Given the description of an element on the screen output the (x, y) to click on. 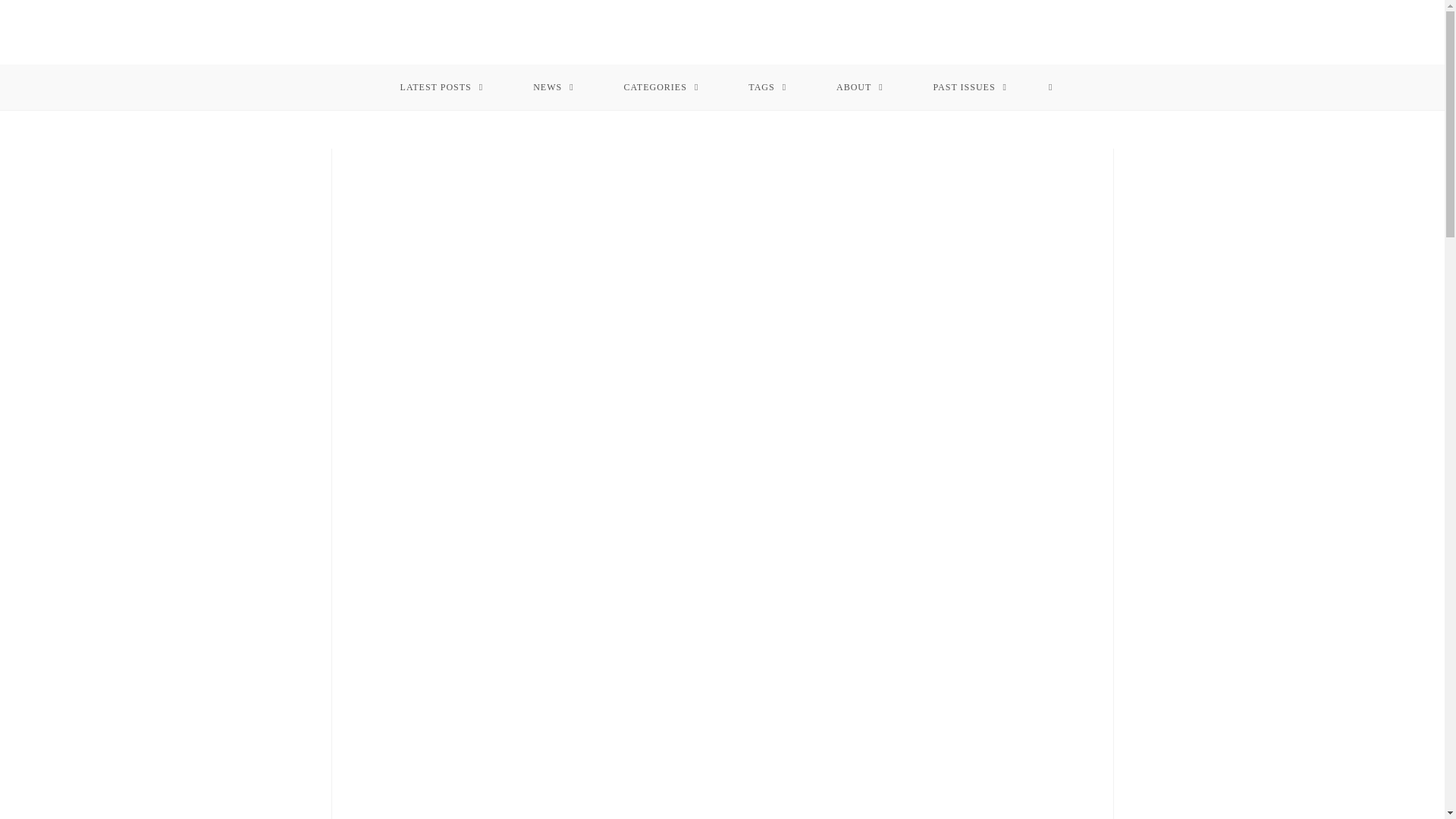
ABOUT (859, 86)
LATEST POSTS (441, 86)
NEWS (553, 86)
PAST ISSUES (970, 86)
CATEGORIES (660, 86)
TAGS (766, 86)
